Given the description of an element on the screen output the (x, y) to click on. 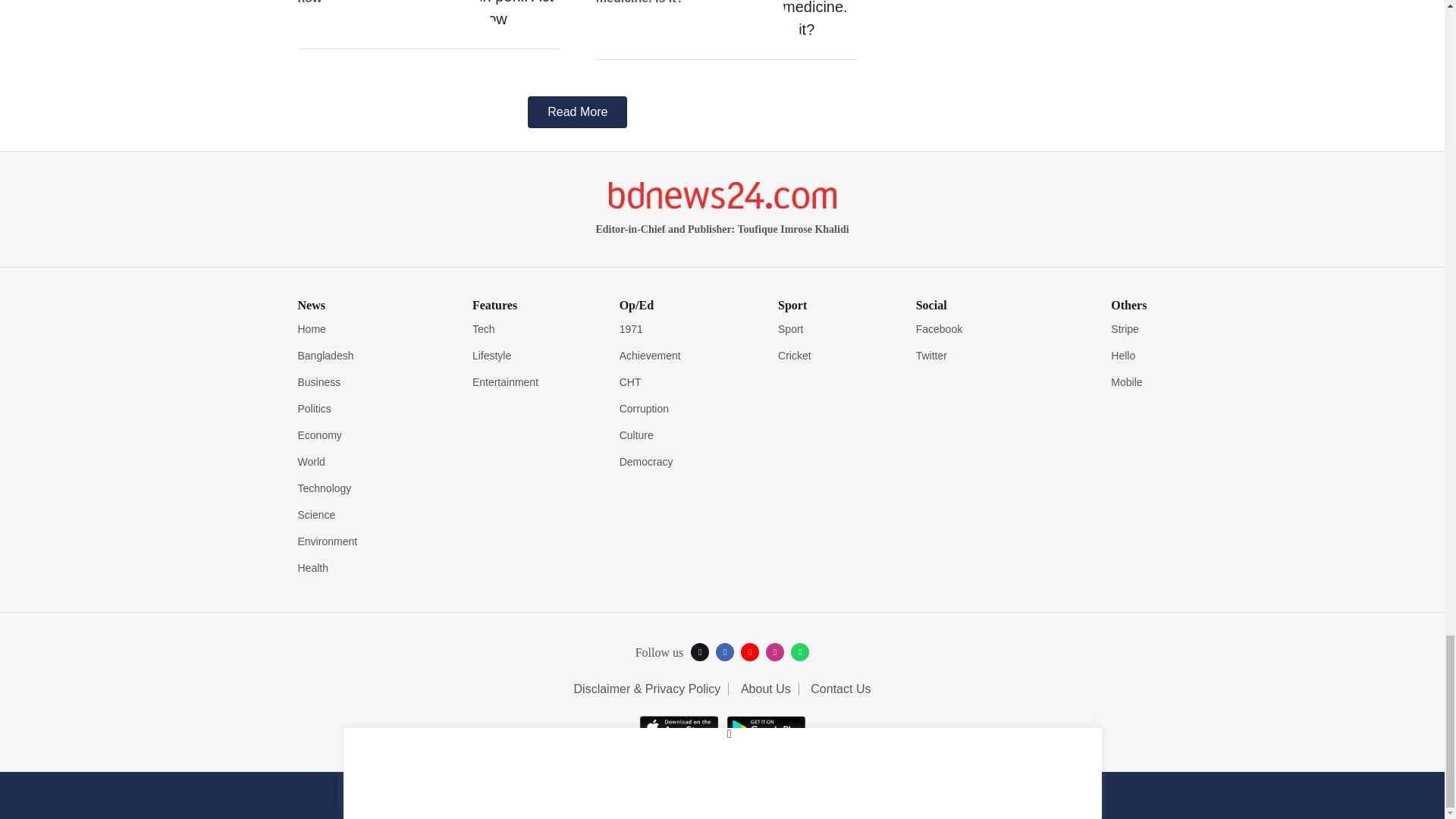
Environment in peril: Act now (521, 15)
Laughter is the best medicine. Is it? (820, 20)
